Given the description of an element on the screen output the (x, y) to click on. 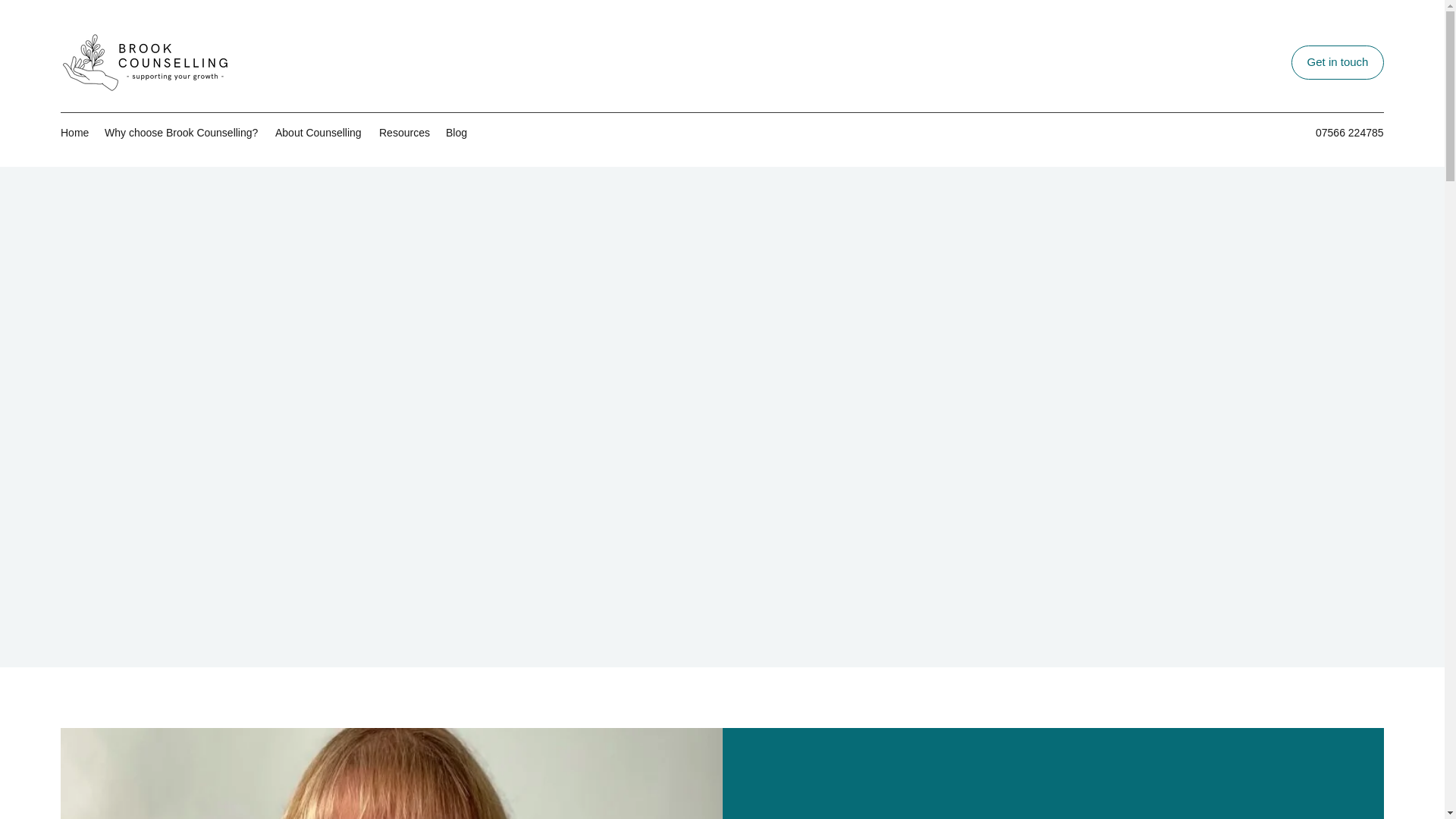
About Counselling (319, 132)
Home (74, 132)
Get in touch (1337, 62)
Blog (457, 132)
Resources (404, 132)
Why choose Brook Counselling? (182, 132)
